Given the description of an element on the screen output the (x, y) to click on. 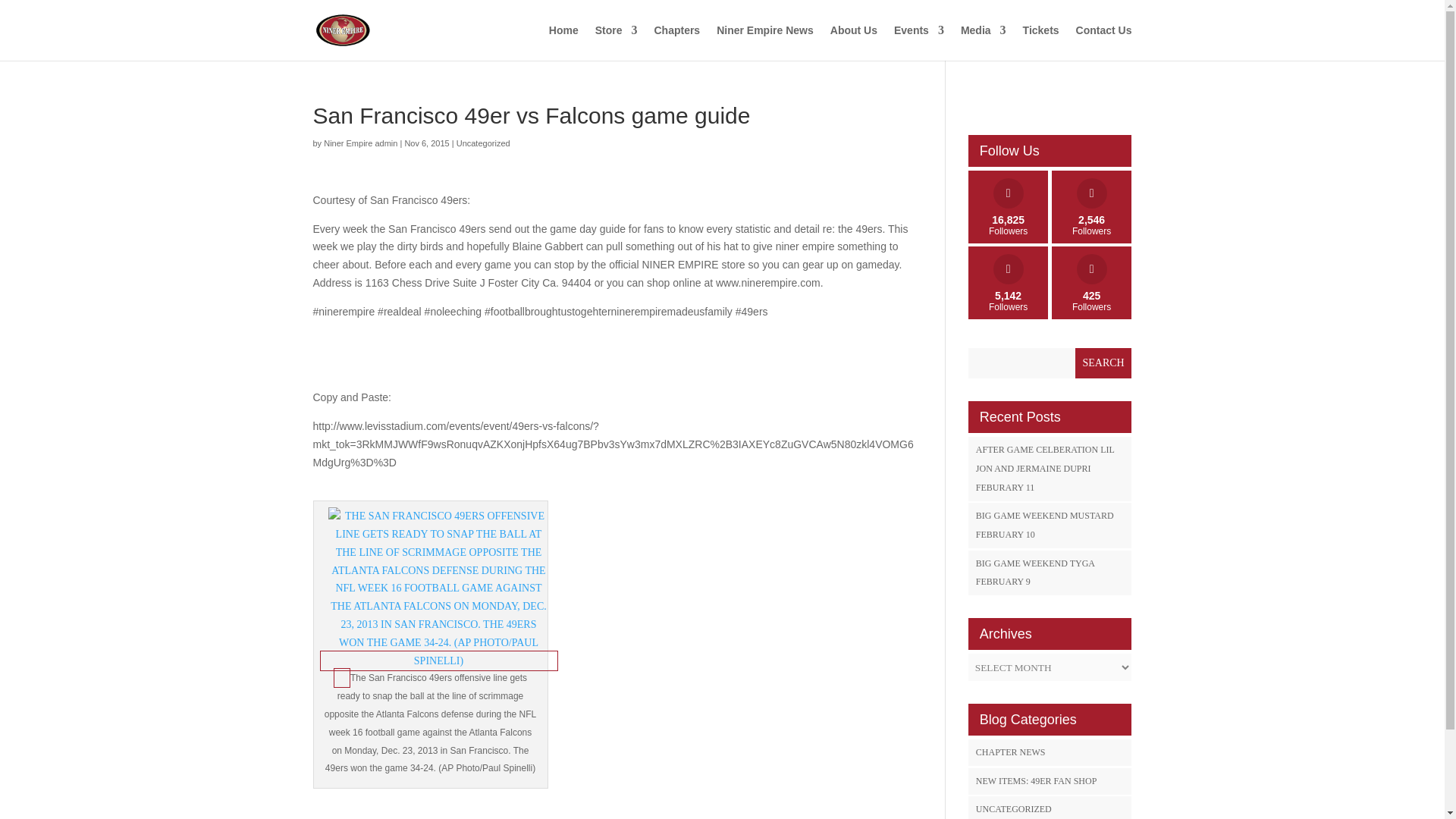
Niner Empire admin (360, 143)
Niner Empire News (764, 42)
About Us (853, 42)
Posts by Niner Empire admin (1008, 206)
Contact Us (360, 143)
Chapters (1103, 42)
Search (676, 42)
Store (1103, 363)
Uncategorized (616, 42)
Media (484, 143)
Search (983, 42)
Tickets (1103, 363)
